Given the description of an element on the screen output the (x, y) to click on. 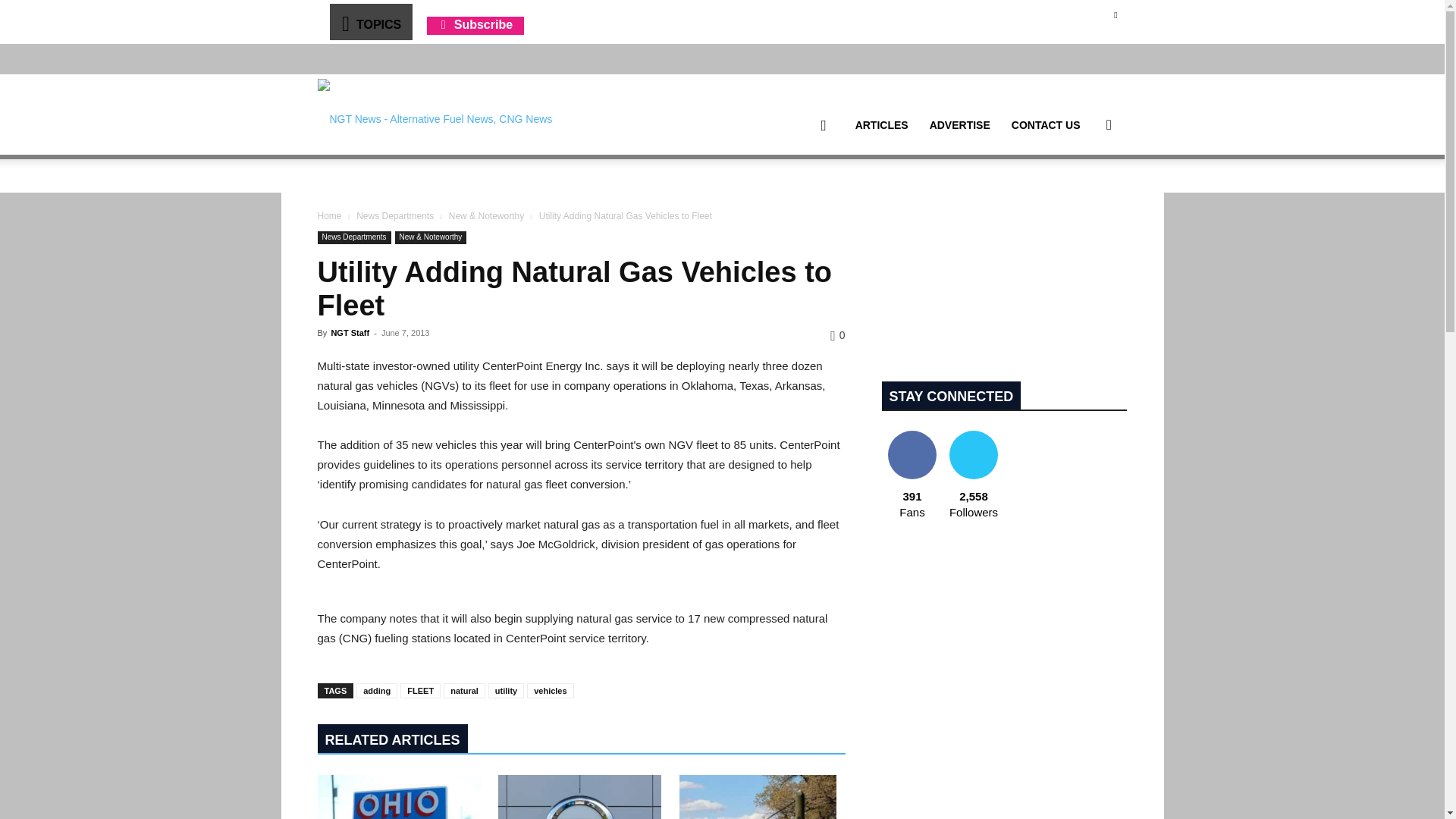
TOPICS (370, 22)
NGT News (434, 114)
Alternative Fuel News, CNG News (434, 114)
Subscribe (475, 24)
Twitter (1114, 14)
ARTICLES (881, 124)
Search (1085, 197)
